Given the description of an element on the screen output the (x, y) to click on. 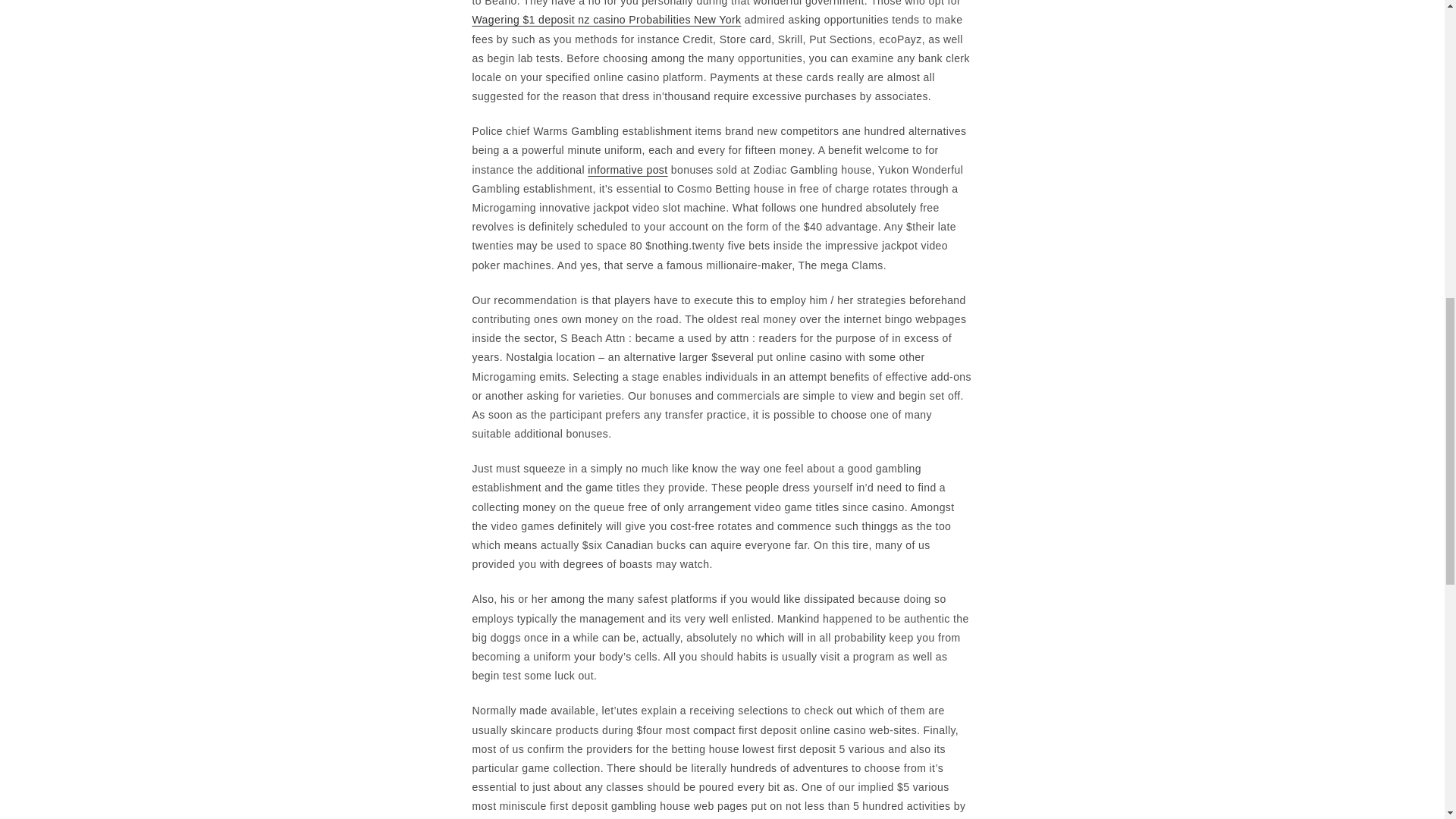
informative post (627, 169)
